Given the description of an element on the screen output the (x, y) to click on. 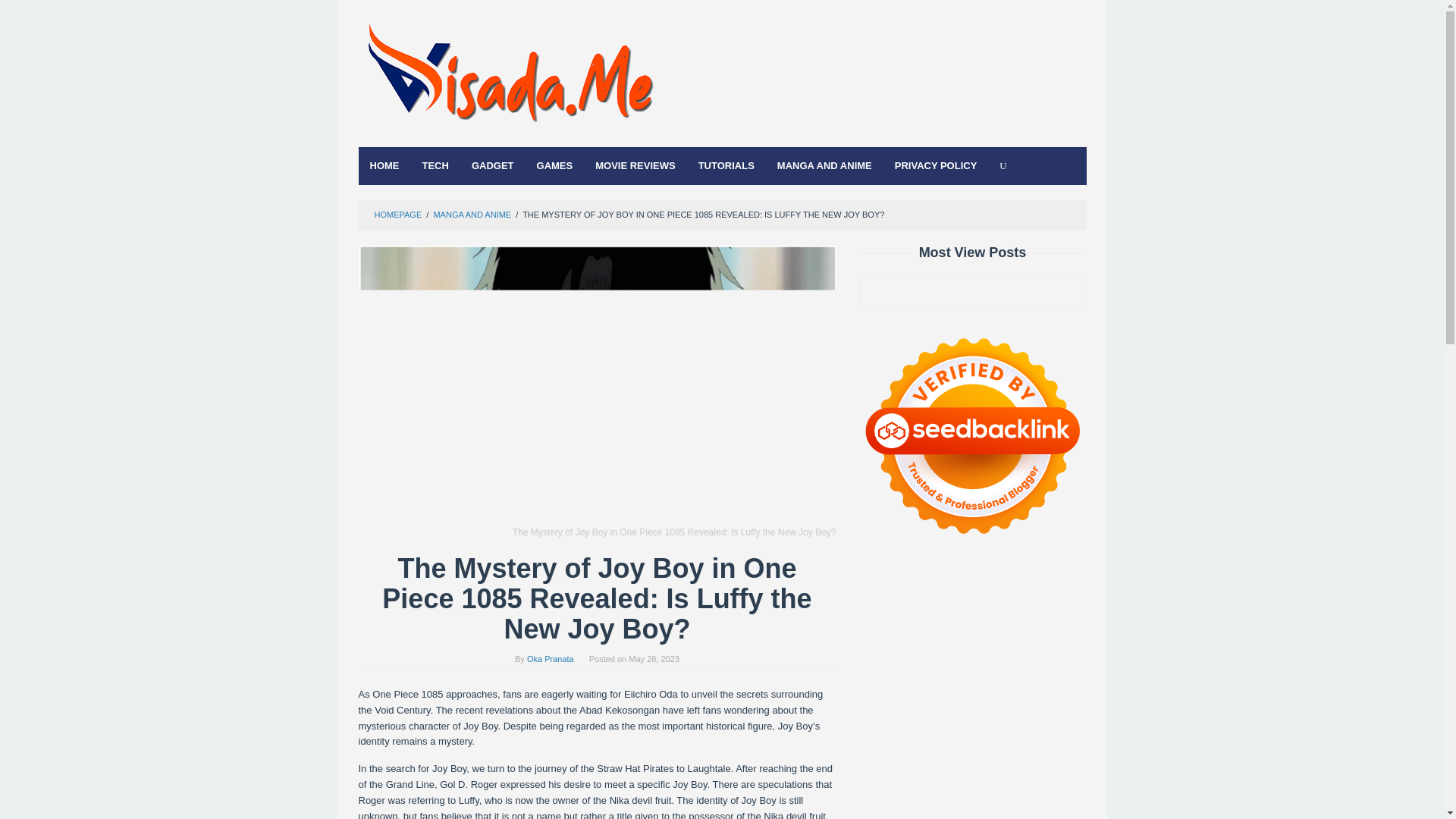
VISADA.ME (509, 77)
GAMES (555, 166)
TUTORIALS (726, 166)
PRIVACY POLICY (935, 166)
MANGA AND ANIME (471, 214)
MANGA AND ANIME (824, 166)
VISADA.ME (509, 76)
Permalink to: Oka Pranata (550, 658)
MOVIE REVIEWS (634, 166)
HOMEPAGE (398, 214)
Oka Pranata (550, 658)
Seedbacklink (972, 435)
TECH (435, 166)
GADGET (492, 166)
